Given the description of an element on the screen output the (x, y) to click on. 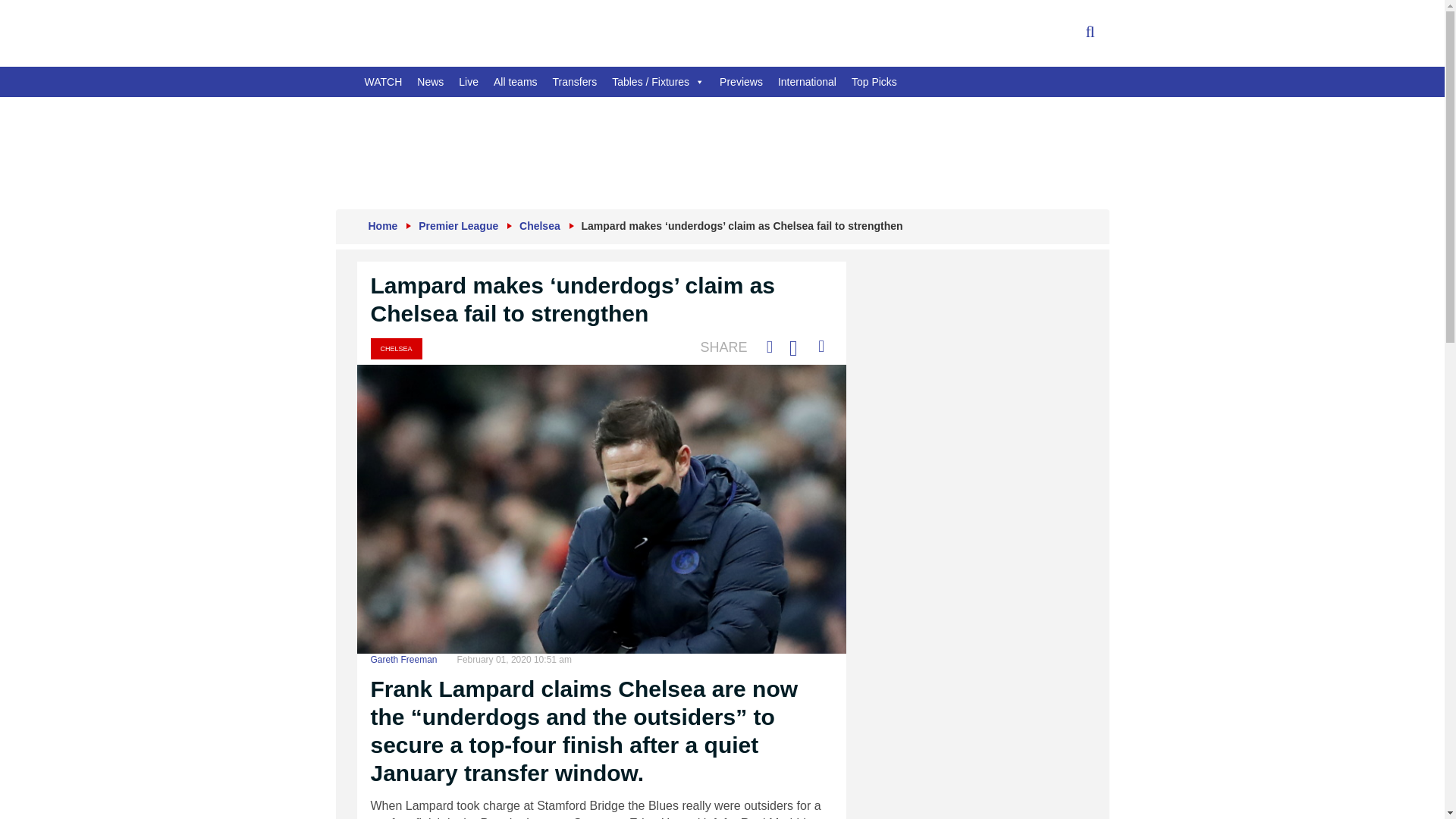
News (430, 81)
International (807, 81)
Previews (740, 81)
Gareth Freeman (402, 659)
Live (468, 81)
Home (382, 225)
Premier League (458, 225)
Chelsea (539, 225)
WATCH (382, 81)
Top Picks (874, 81)
